Given the description of an element on the screen output the (x, y) to click on. 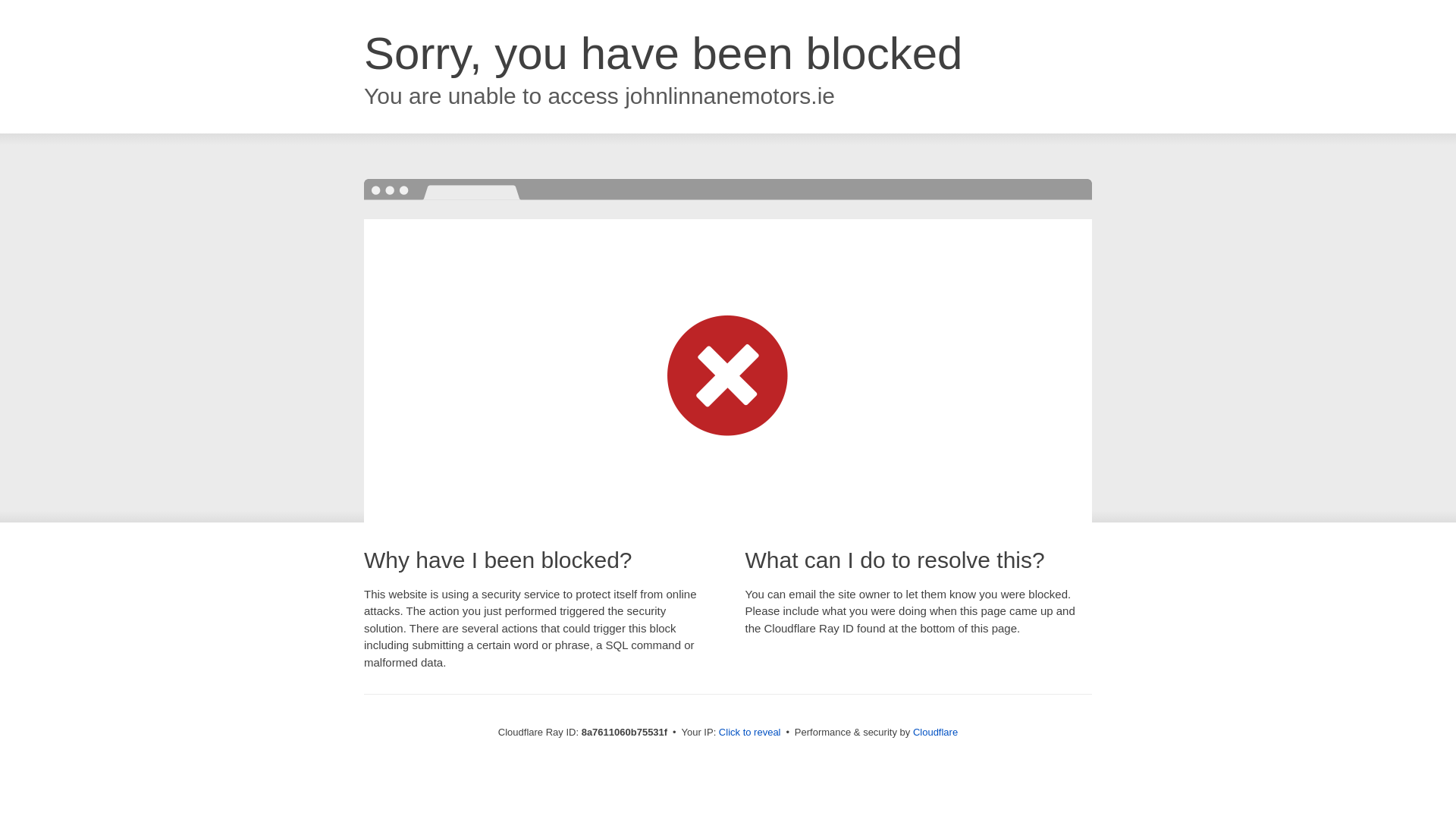
Cloudflare (935, 731)
Click to reveal (749, 732)
